Given the description of an element on the screen output the (x, y) to click on. 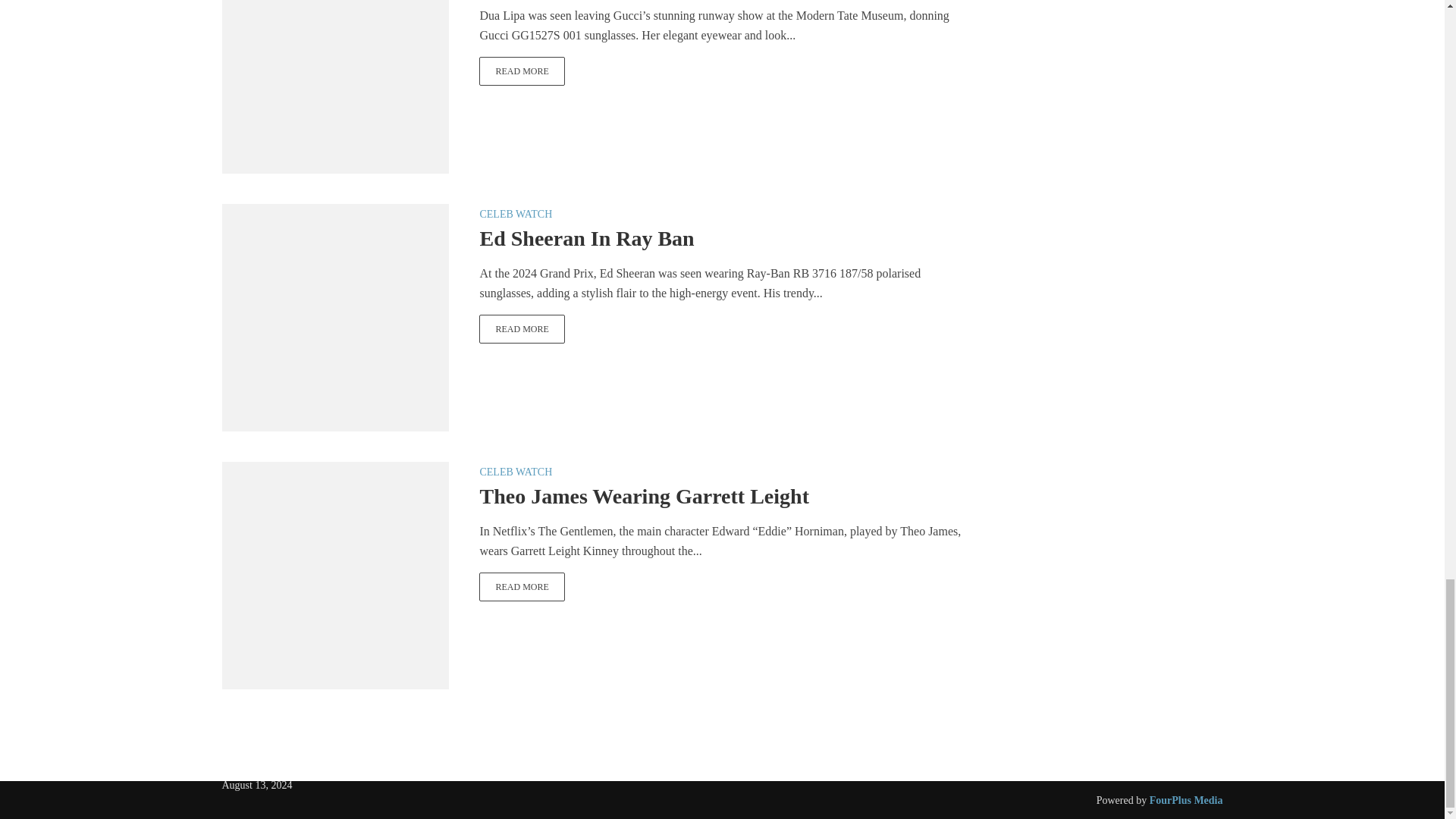
Ed Sheeran In Ray Ban (521, 328)
Dua Lipa Spotted In Gucci (334, 58)
Theo James Wearing Garrett Leight (334, 574)
Theo James Wearing Garrett Leight (521, 586)
Ed Sheeran In Ray Ban (334, 316)
Dua Lipa Spotted In Gucci (521, 70)
